Given the description of an element on the screen output the (x, y) to click on. 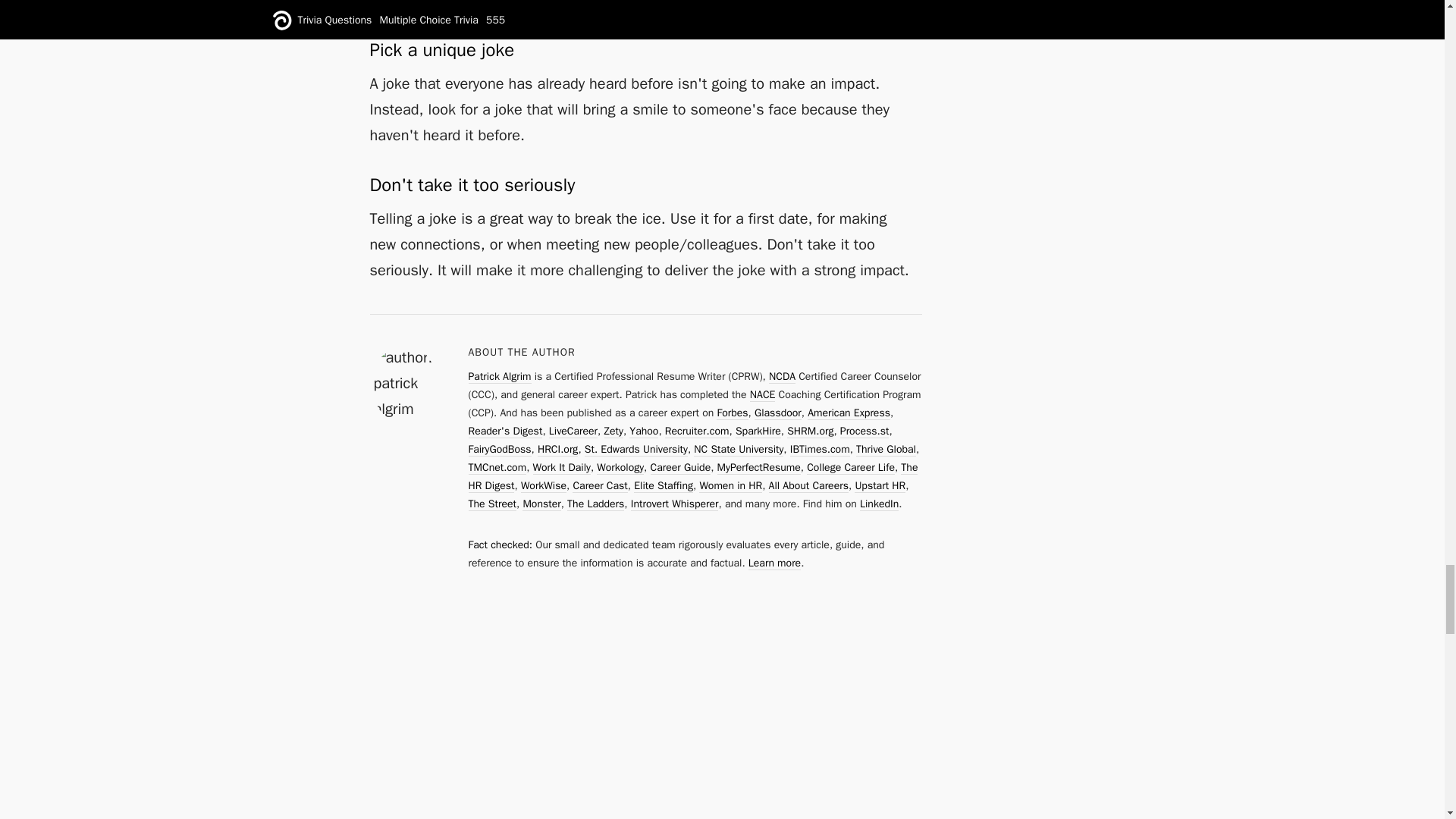
Forbes (732, 413)
SparkHire (757, 431)
MyPerfectResume (758, 468)
NCDA (781, 377)
Yahoo (643, 431)
Work It Daily (561, 468)
American Express (848, 413)
Zety (613, 431)
SHRM.org (809, 431)
Recruiter.com (697, 431)
Patrick Algrim (499, 377)
St. Edwards University (636, 449)
Glassdoor (778, 413)
NACE (762, 395)
LiveCareer (572, 431)
